Given the description of an element on the screen output the (x, y) to click on. 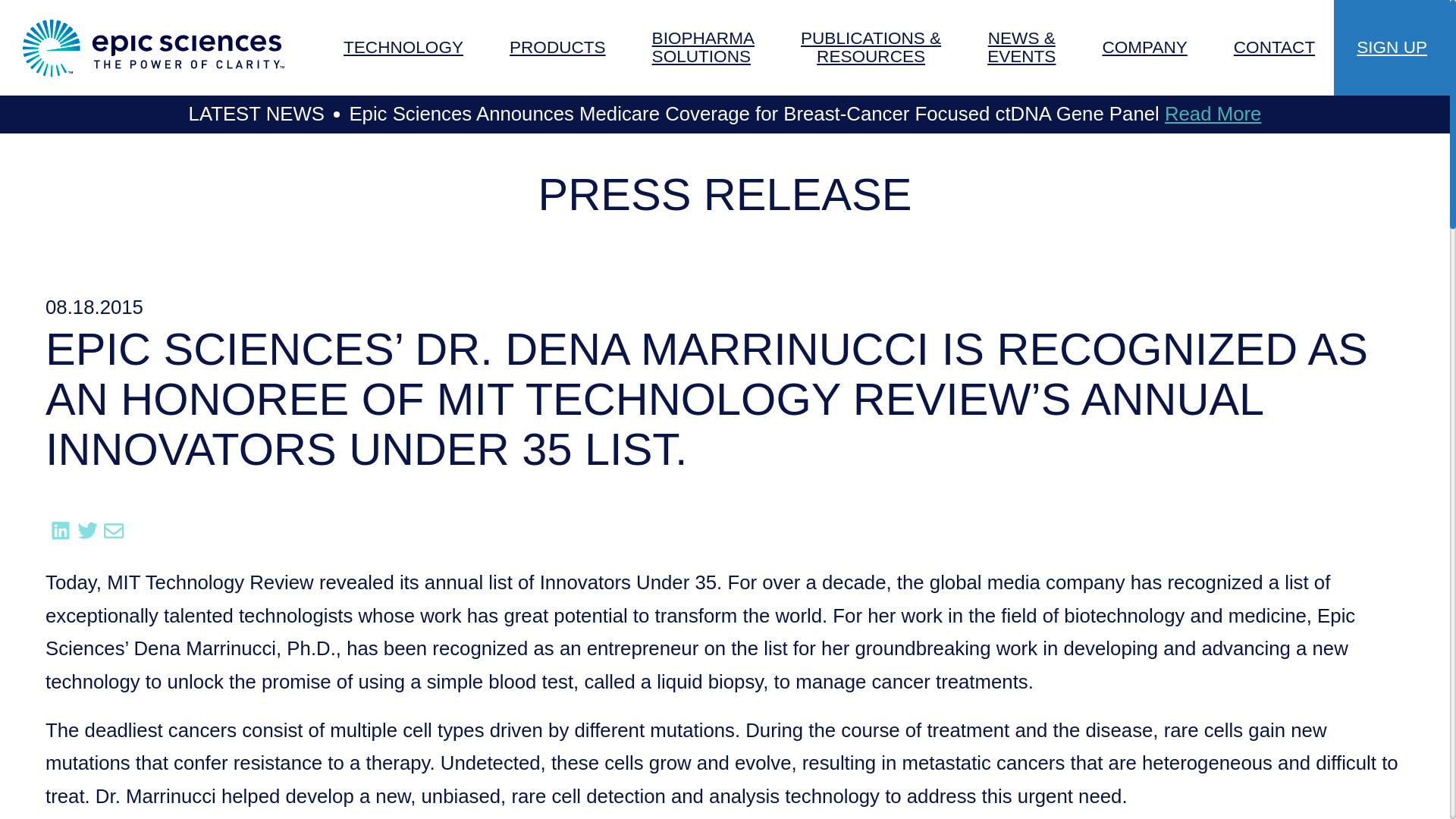
LinkedIn (60, 530)
Epic Sciences - The Epic Story (153, 47)
CONTACT (1274, 47)
TECHNOLOGY (403, 47)
Twitter (87, 530)
COMPANY (1143, 47)
Read More (1212, 114)
PRODUCTS (702, 47)
Follow by Email (557, 47)
